Given the description of an element on the screen output the (x, y) to click on. 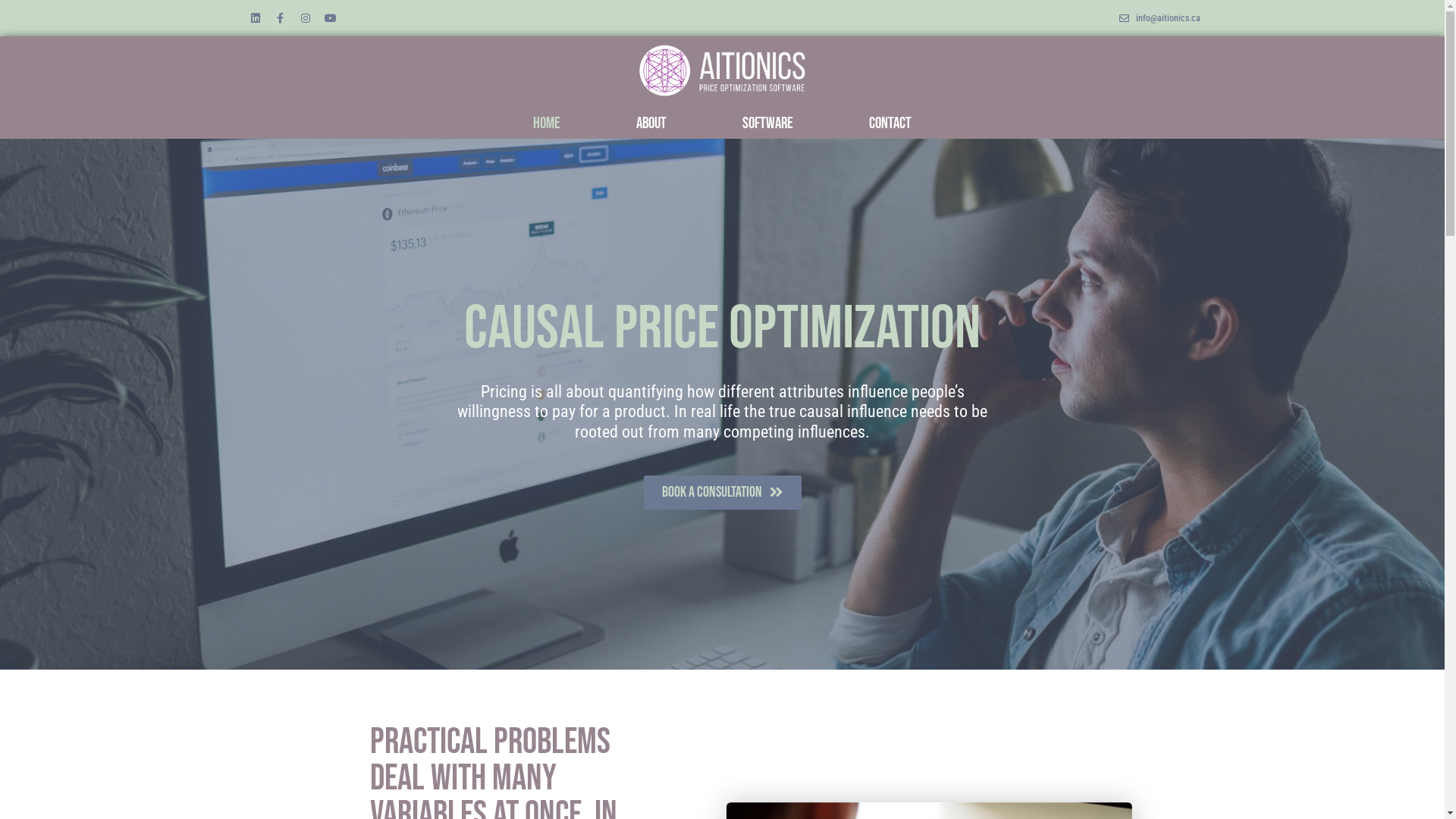
Software Element type: text (767, 123)
info@aitionics.ca Element type: text (1159, 18)
Contact Element type: text (890, 123)
Book a consultation Element type: text (721, 492)
About Element type: text (651, 123)
Home Element type: text (546, 123)
